Given the description of an element on the screen output the (x, y) to click on. 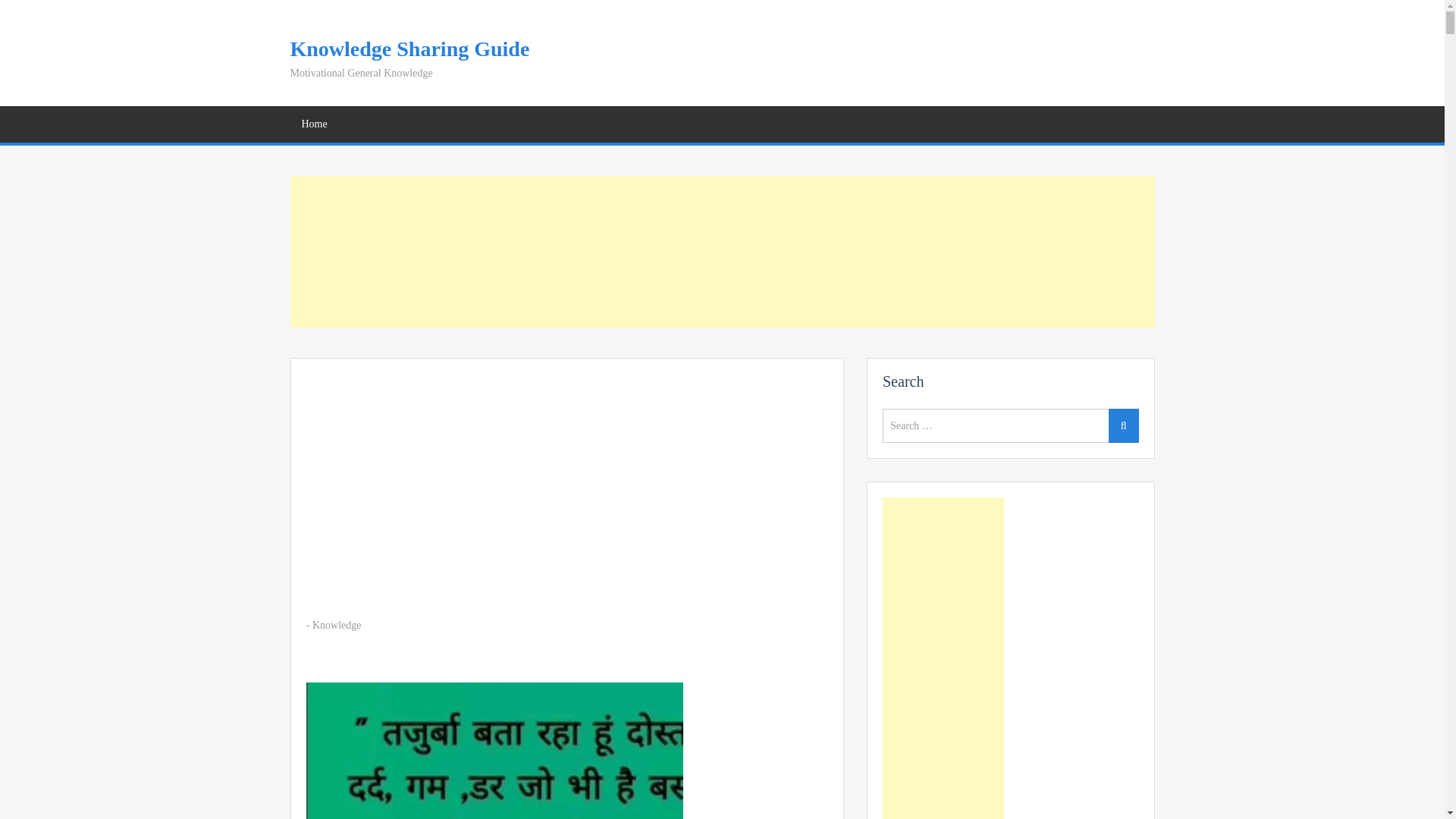
Knowledge (337, 624)
Knowledge Sharing Guide (409, 48)
Home (313, 124)
Advertisement (721, 251)
